Given the description of an element on the screen output the (x, y) to click on. 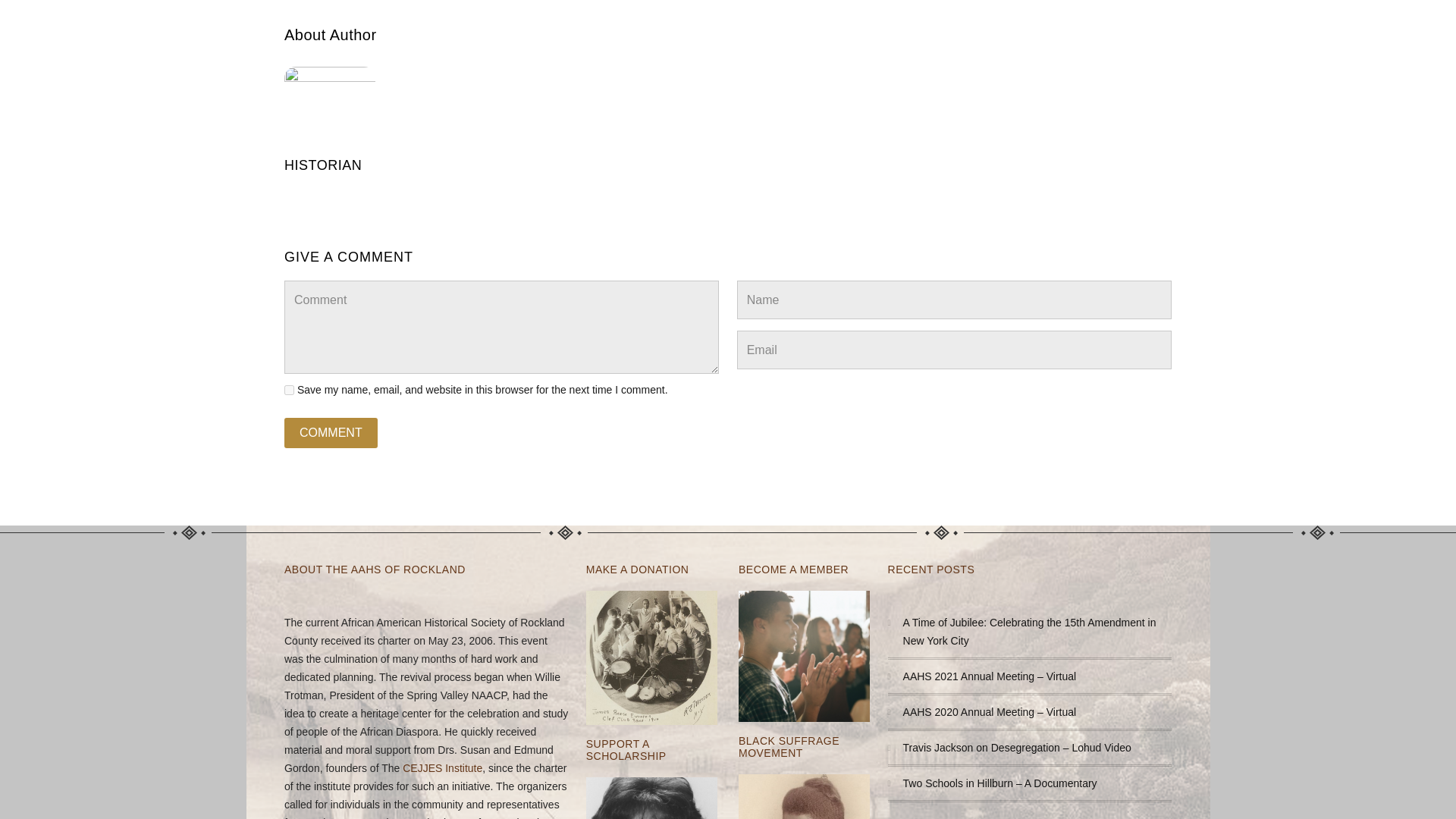
Comment (330, 432)
